Given the description of an element on the screen output the (x, y) to click on. 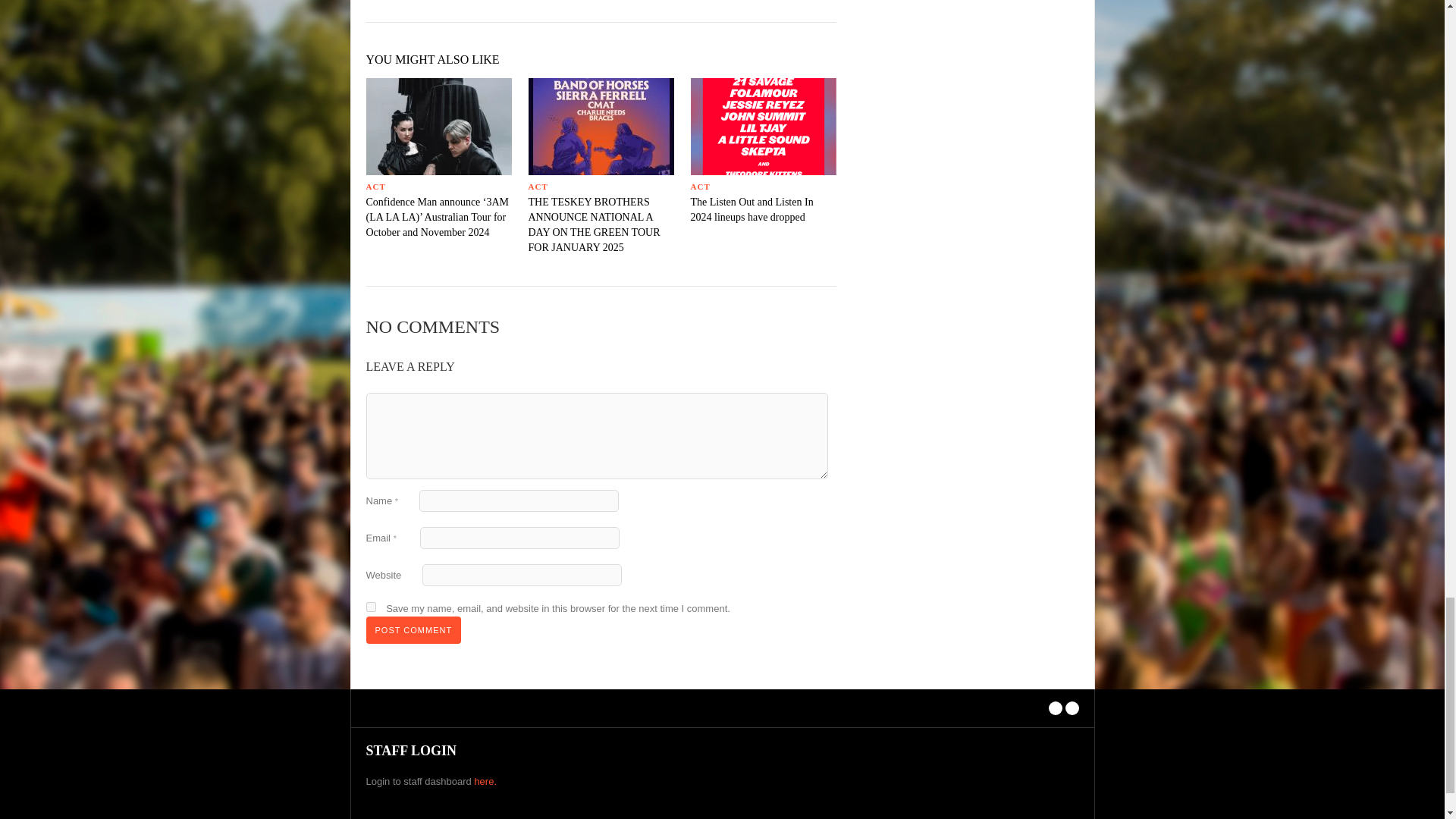
Post comment (413, 629)
yes (370, 606)
